Given the description of an element on the screen output the (x, y) to click on. 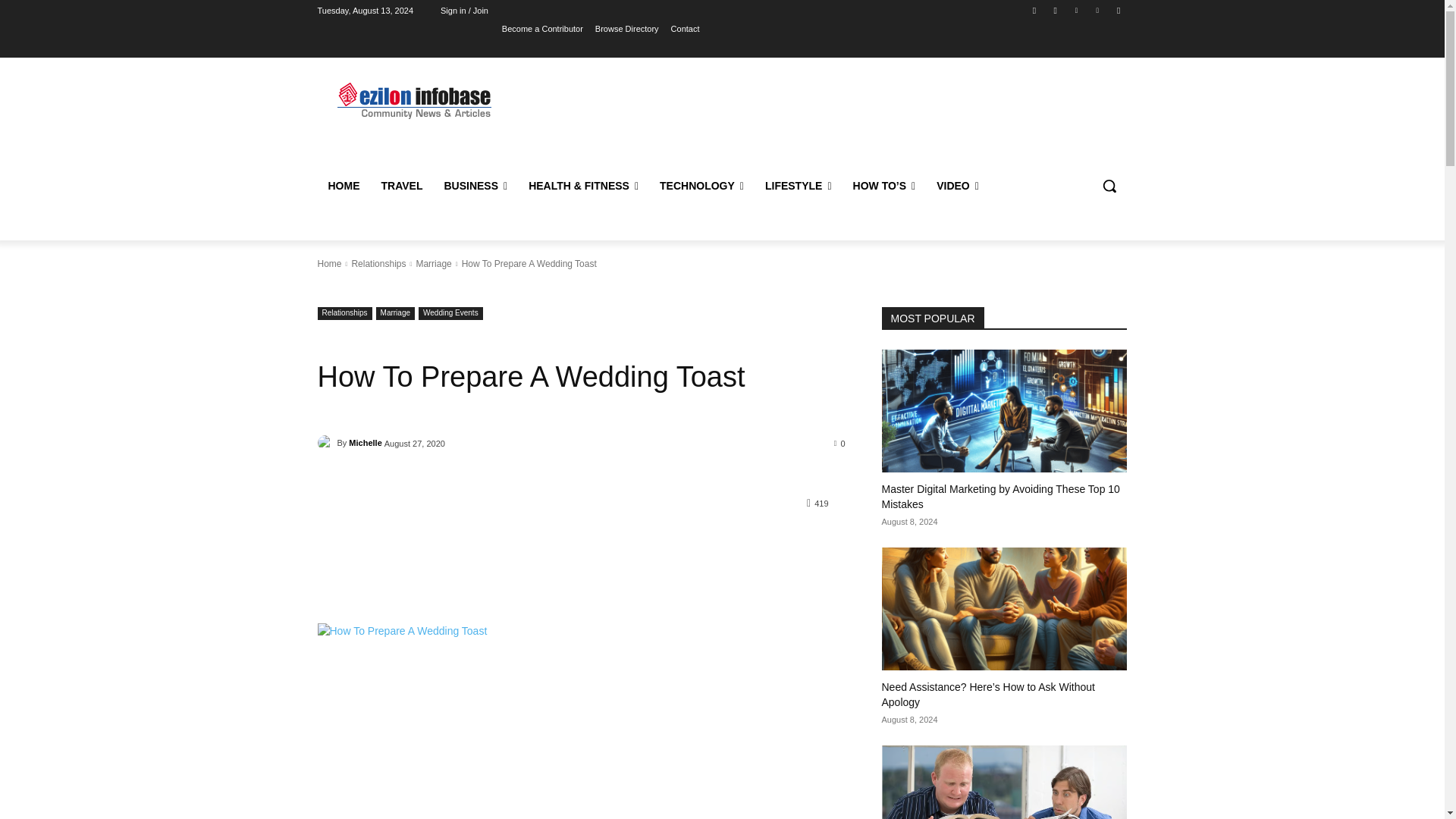
Facebook (1034, 9)
Twitter (1075, 9)
Youtube (1117, 9)
Vimeo (1097, 9)
Instagram (1055, 9)
